Given the description of an element on the screen output the (x, y) to click on. 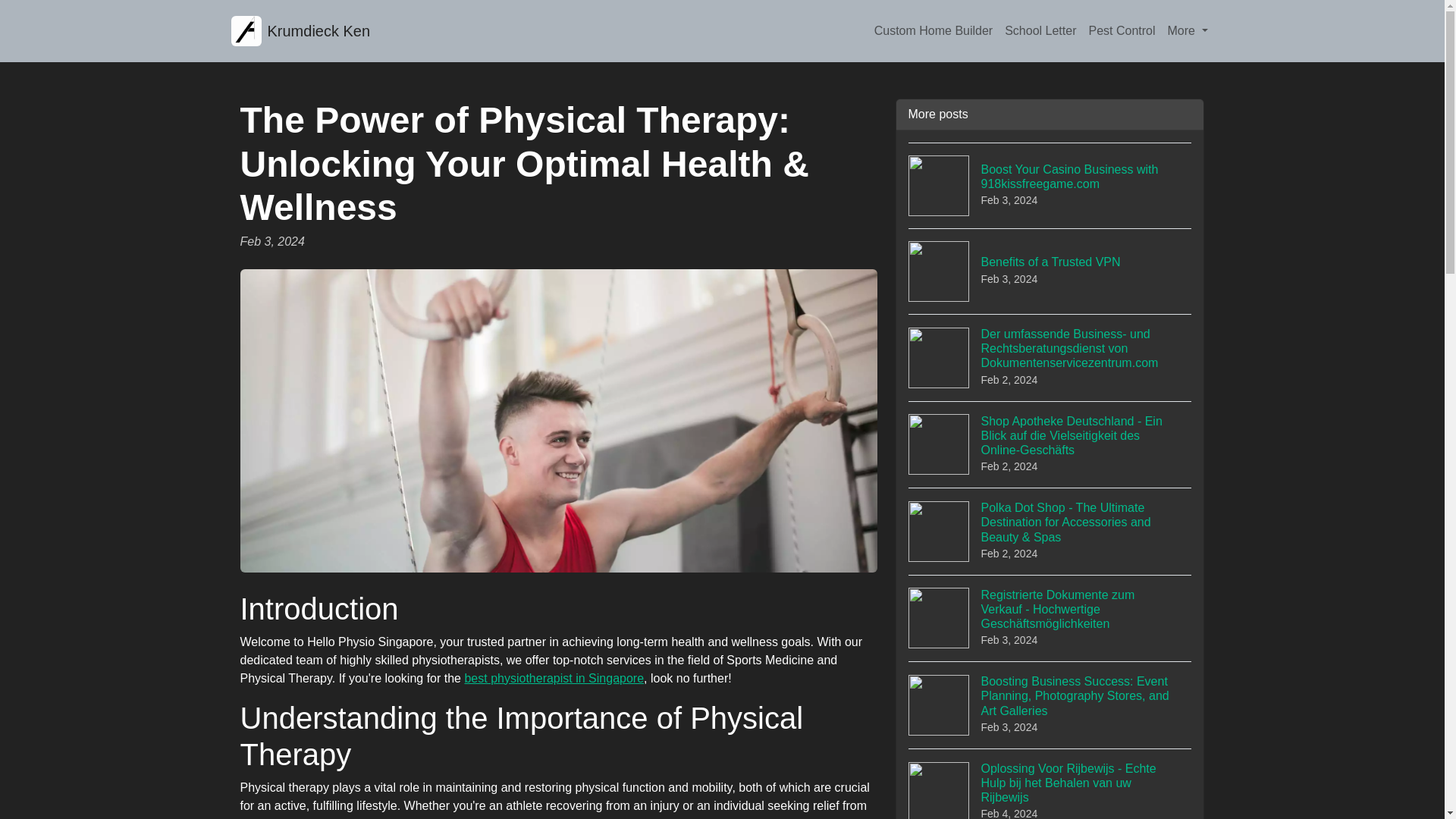
School Letter (1039, 30)
Pest Control (1050, 270)
Custom Home Builder (1120, 30)
best physiotherapist in Singapore (932, 30)
Krumdieck Ken (553, 677)
More (299, 30)
